Given the description of an element on the screen output the (x, y) to click on. 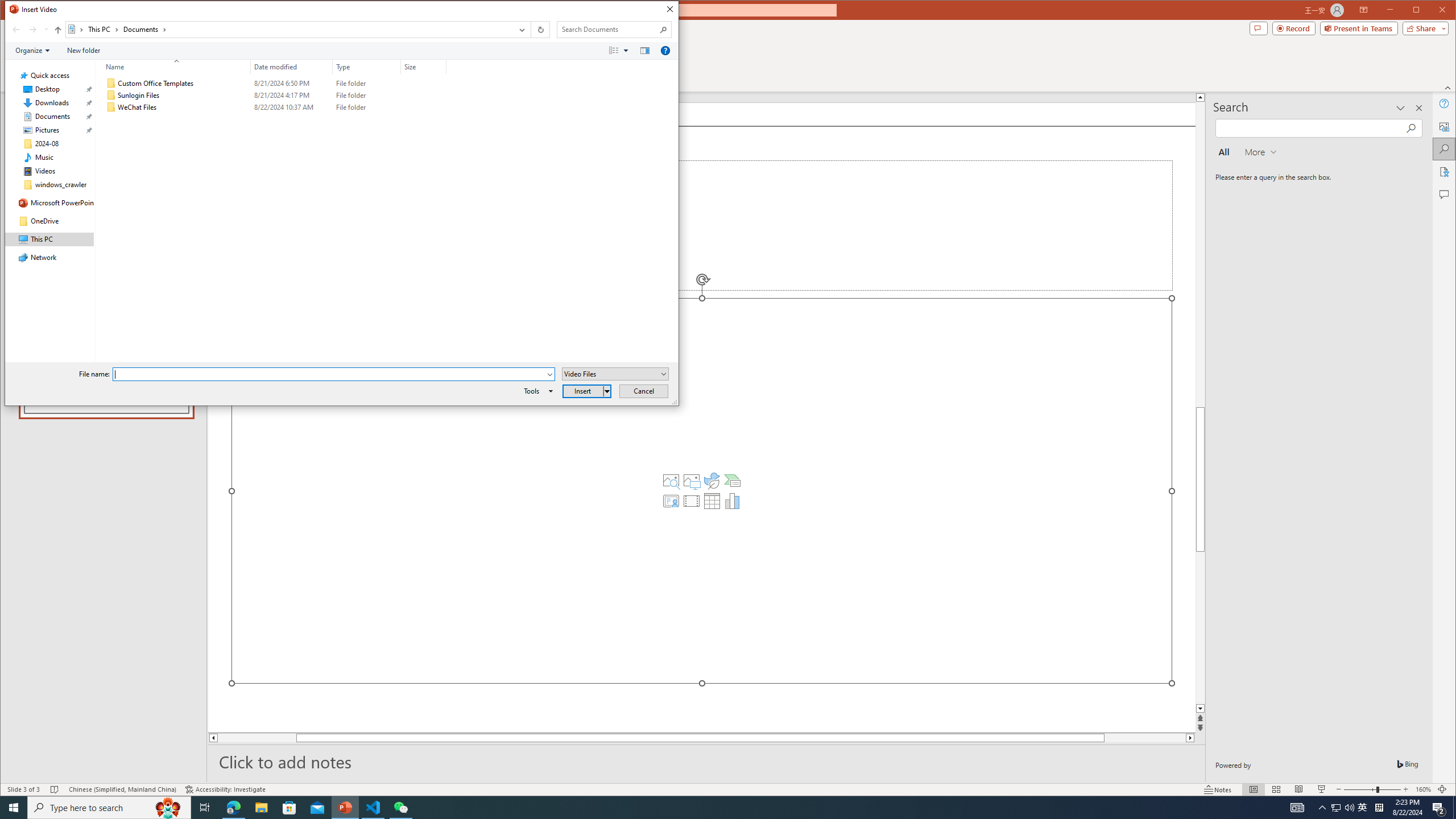
Previous Locations (520, 29)
Custom Office Templates (273, 83)
Maximize (1432, 11)
Files of type: (615, 373)
&Help (665, 50)
